Given the description of an element on the screen output the (x, y) to click on. 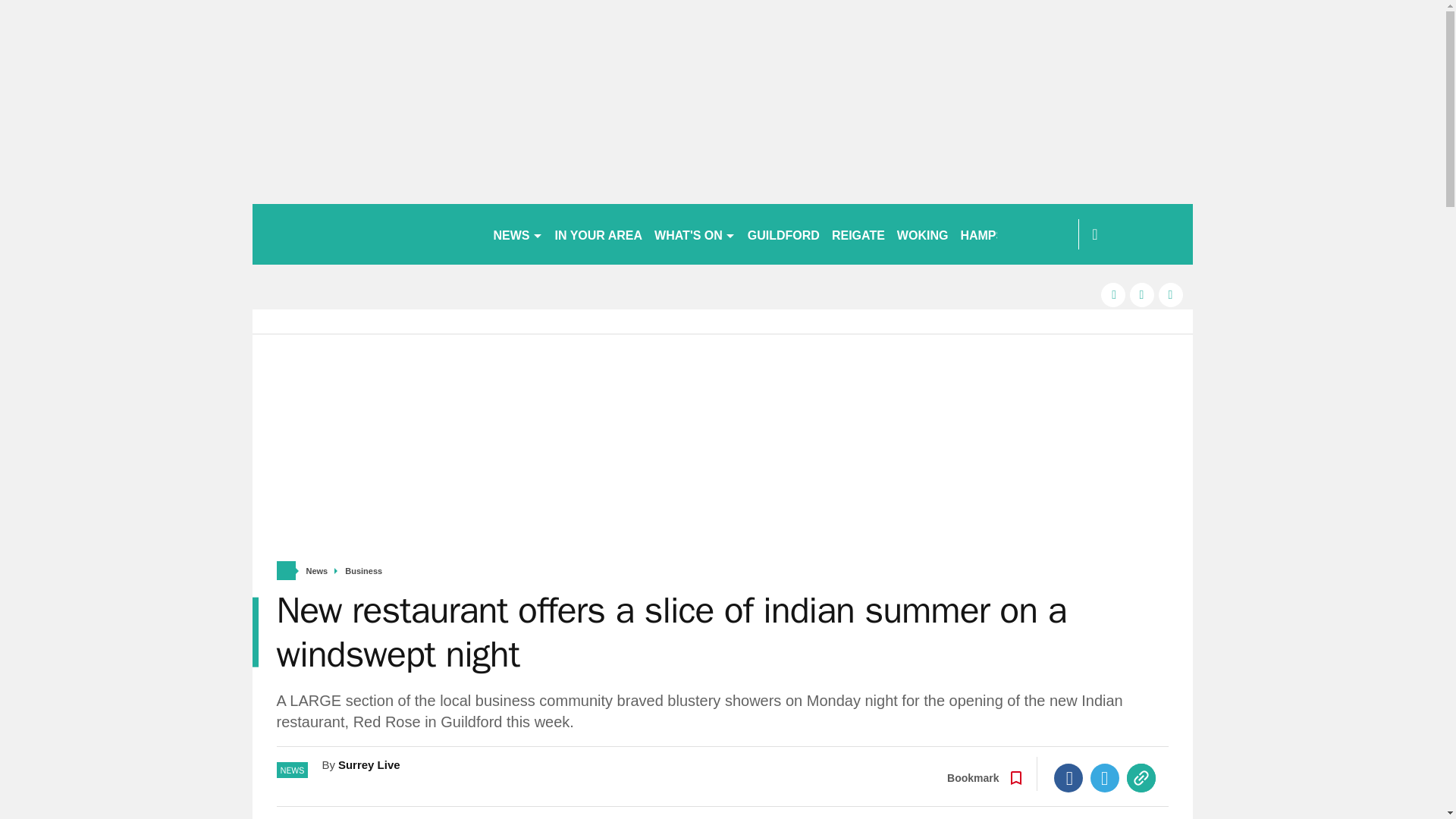
WHAT'S ON (694, 233)
Twitter (1104, 777)
REIGATE (858, 233)
NEWS (517, 233)
Facebook (1068, 777)
facebook (1112, 294)
getsurrey (365, 233)
GUILDFORD (783, 233)
twitter (1141, 294)
IN YOUR AREA (598, 233)
HAMPSHIRE (996, 233)
instagram (1170, 294)
WOKING (923, 233)
